Given the description of an element on the screen output the (x, y) to click on. 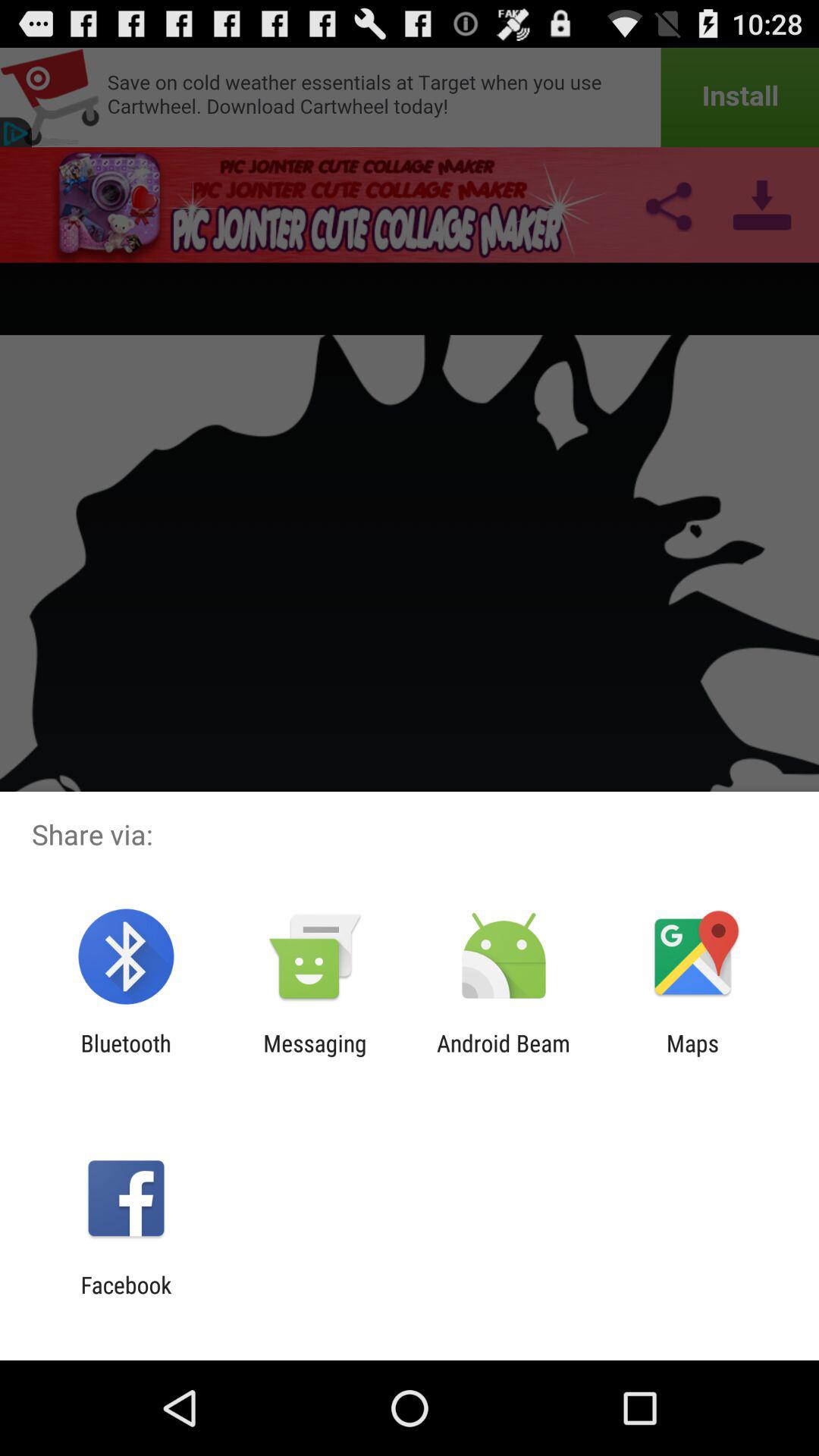
launch android beam item (503, 1056)
